Given the description of an element on the screen output the (x, y) to click on. 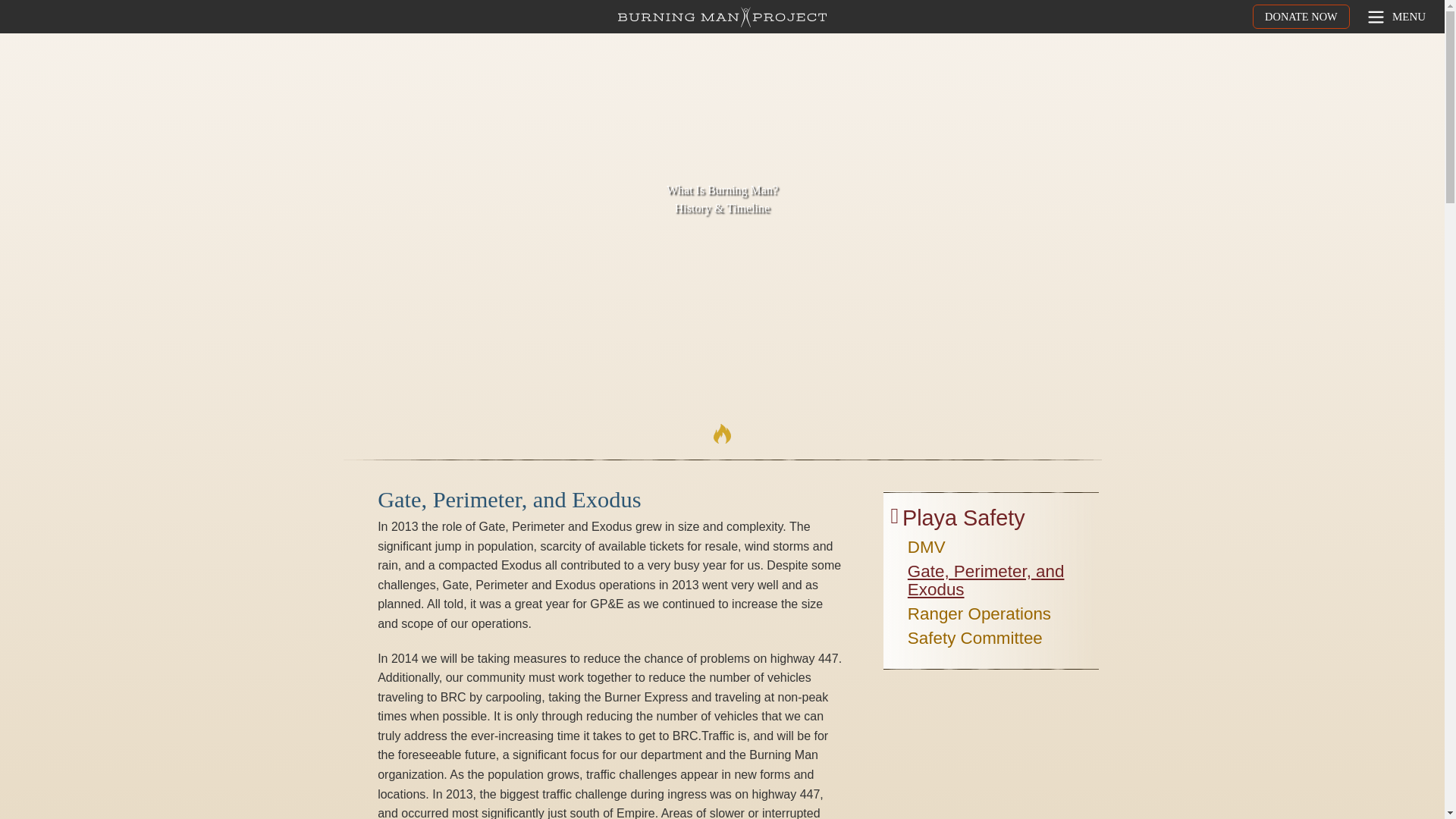
MENU (1395, 16)
Gate, Perimeter, and Exodus (1000, 582)
Playa Safety (963, 522)
Ranger Operations (979, 616)
DONATE NOW (1300, 16)
DMV (925, 549)
Safety Committee (974, 640)
